Given the description of an element on the screen output the (x, y) to click on. 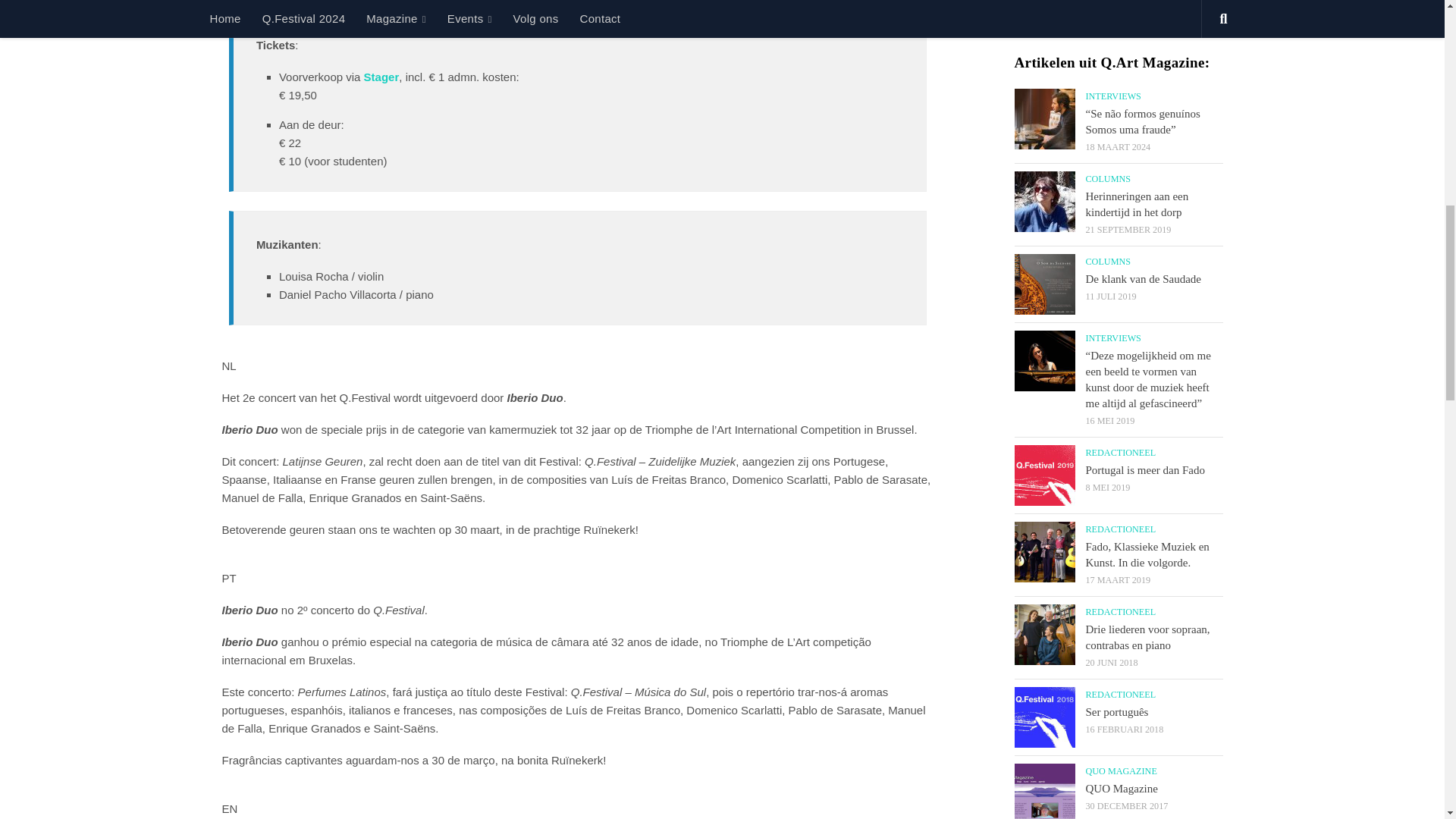
Stager (381, 76)
